Given the description of an element on the screen output the (x, y) to click on. 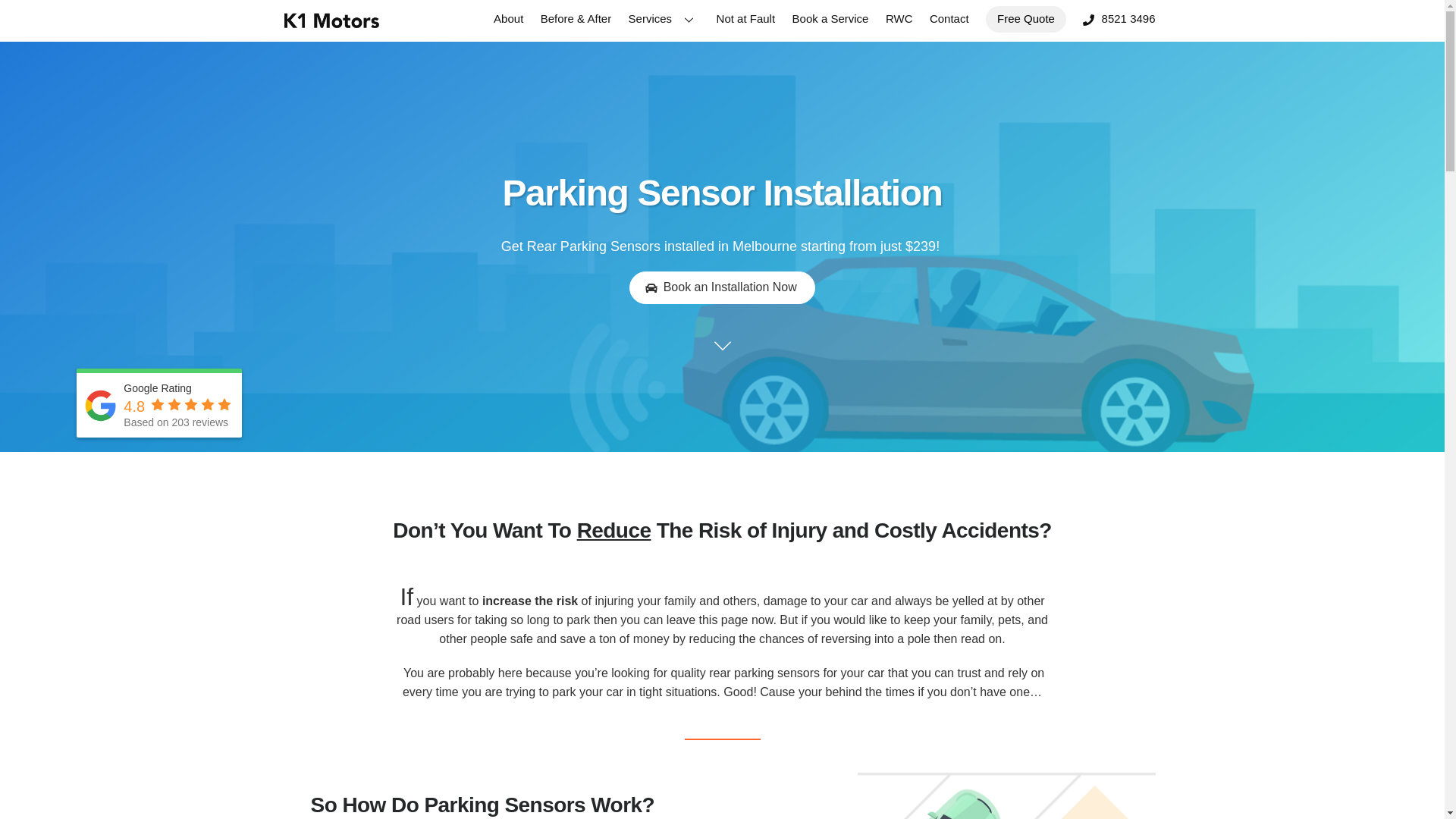
About Element type: text (508, 18)
Free Quote Element type: text (1025, 19)
Not at Fault Element type: text (745, 18)
Before & After Element type: text (575, 18)
K1-Motors-Small Element type: hover (330, 20)
Book a Service Element type: text (830, 18)
Book an Installation Now Element type: text (722, 287)
K1 Motors Element type: hover (330, 25)
RWC Element type: text (898, 18)
Contact Element type: text (948, 18)
8521 3496 Element type: text (1118, 18)
Services Element type: text (663, 18)
